Given the description of an element on the screen output the (x, y) to click on. 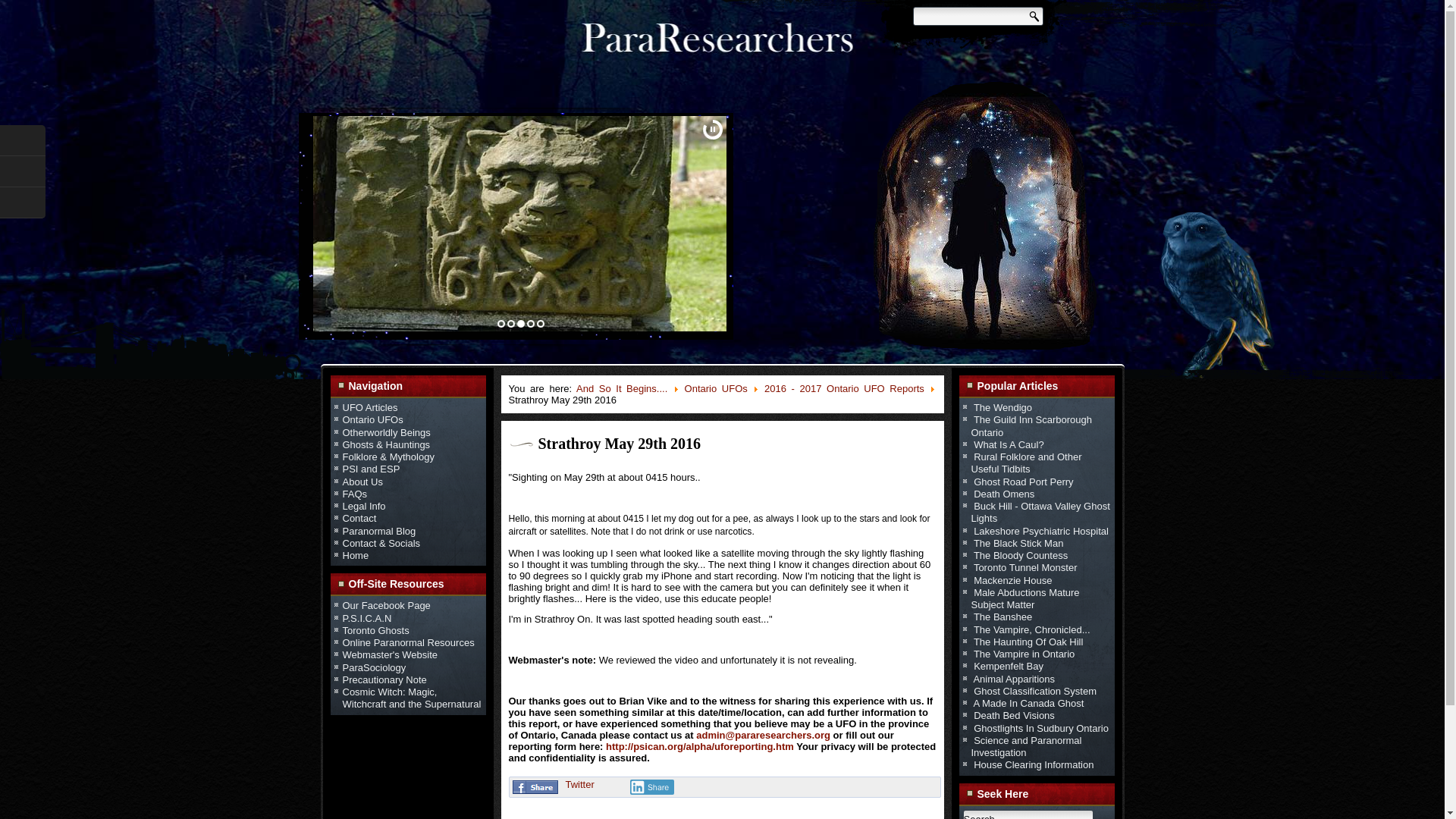
PSI and ESP (371, 469)
Paranormal Blog (379, 530)
Search ... (1027, 814)
2016 - 2017 Ontario UFO Reports (844, 388)
And So It Begins.... (621, 388)
UFO Articles (369, 407)
Our Facebook Page (386, 604)
Ontario UFOs (372, 419)
P.S.I.C.A.N (366, 618)
Webmaster's Website (390, 654)
Strathroy May 29th 2016 (619, 443)
Toronto Ghosts (375, 630)
Online Paranormal Resources (408, 642)
Ontario UFOs (716, 388)
Home (355, 555)
